Given the description of an element on the screen output the (x, y) to click on. 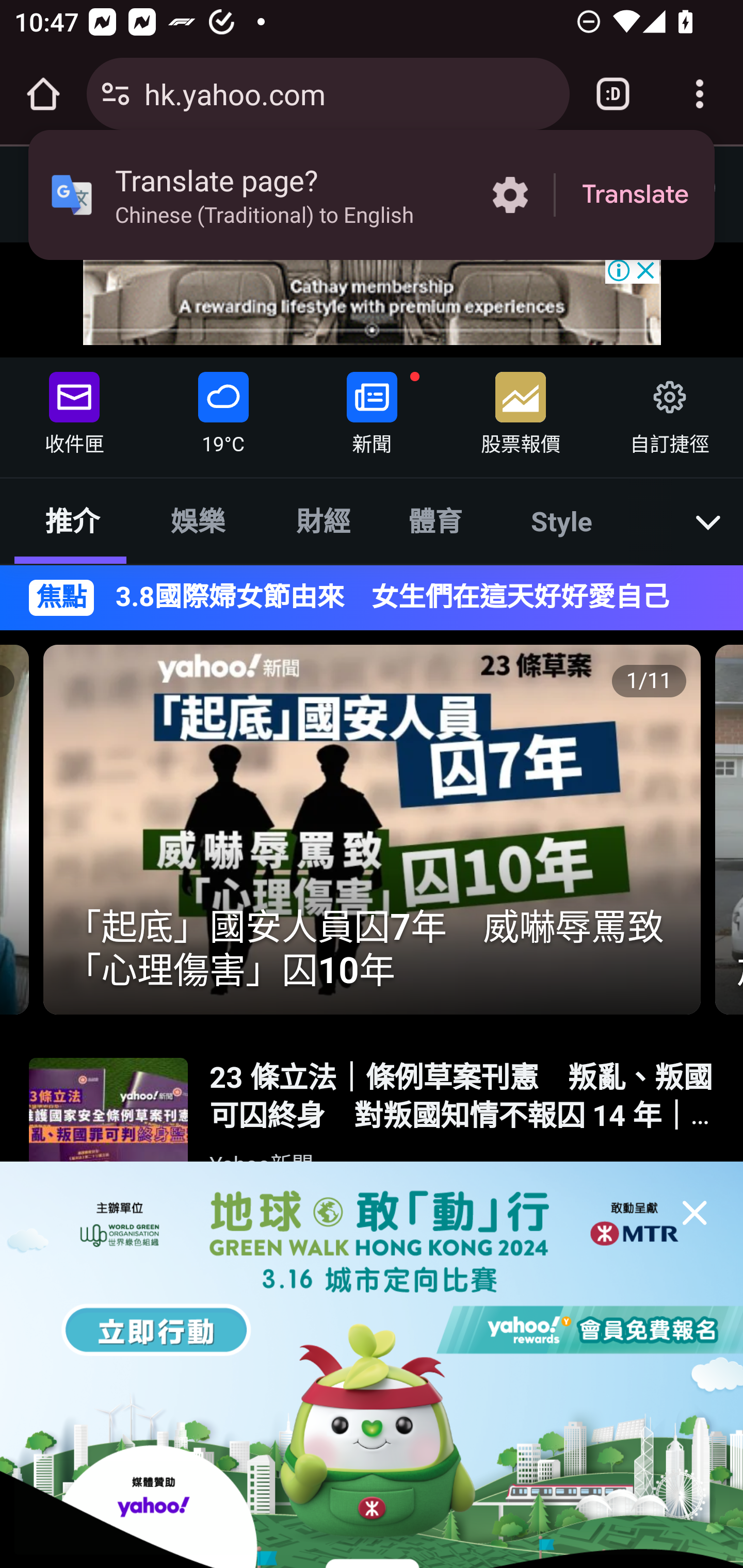
Open the home page (43, 93)
Connection is secure (115, 93)
Switch or close tabs (612, 93)
Customize and control Google Chrome (699, 93)
hk.yahoo.com (349, 92)
Translate (634, 195)
More options in the Translate page? (509, 195)
sidebar (68, 185)
Advertisement (372, 299)
icon-mail 收件匣 icon-mail 收件匣 (74, 408)
weather 19°C weather 19 °C (222, 408)
icon-news 新聞 icon-news 新聞 (372, 408)
icon-finance-quote 股票報價 icon-finance-quote 股票報價 (520, 408)
icon-settings 自訂捷徑 icon-settings 自訂捷徑 (668, 408)
推介 (72, 520)
娛樂 (196, 520)
財經 (323, 520)
體育 (434, 520)
Style (562, 520)
3.8國際婦女節由來　女生們在這天好好愛自己 (404, 596)
